Given the description of an element on the screen output the (x, y) to click on. 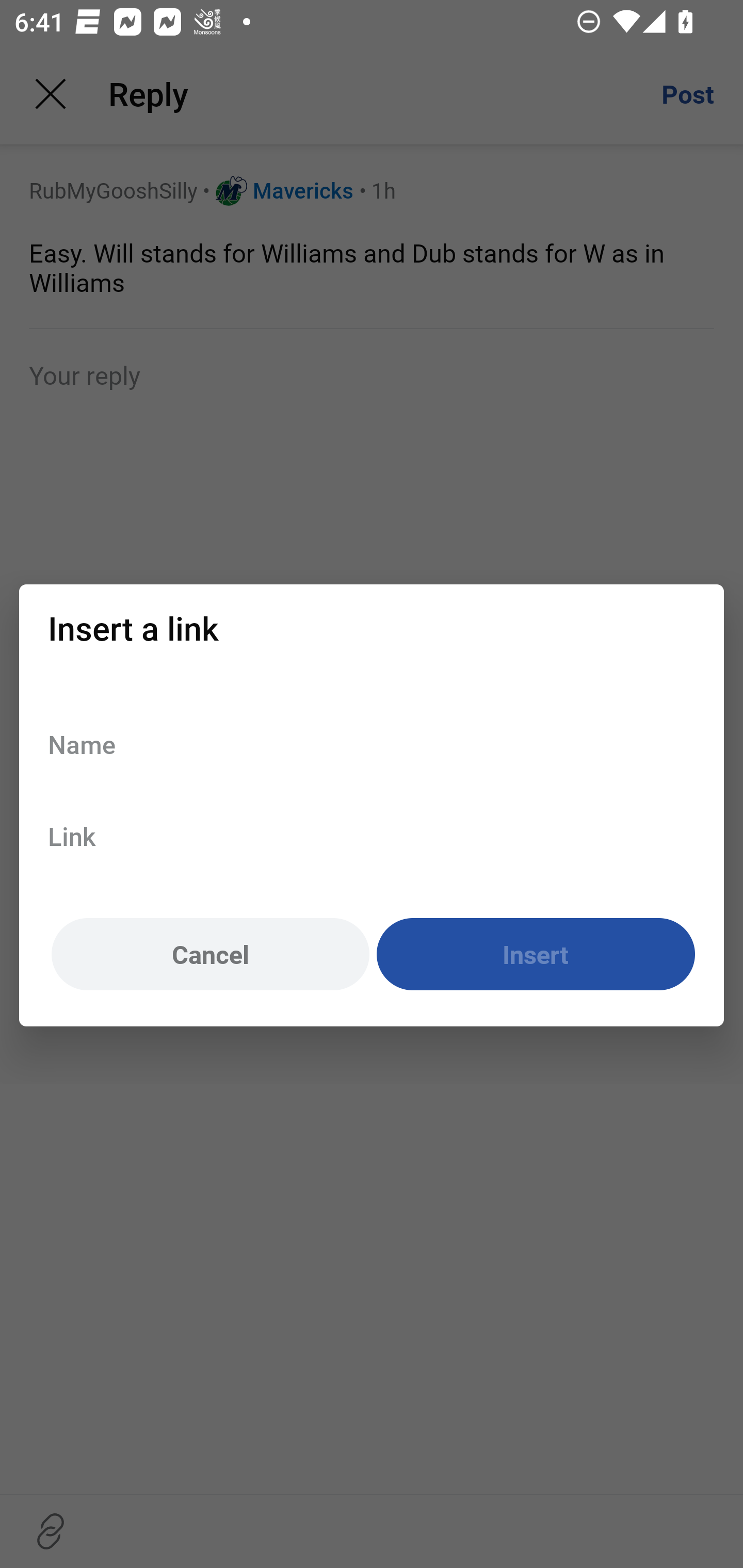
Name (371, 743)
Link (371, 835)
Cancel (210, 954)
Insert (535, 954)
